Given the description of an element on the screen output the (x, y) to click on. 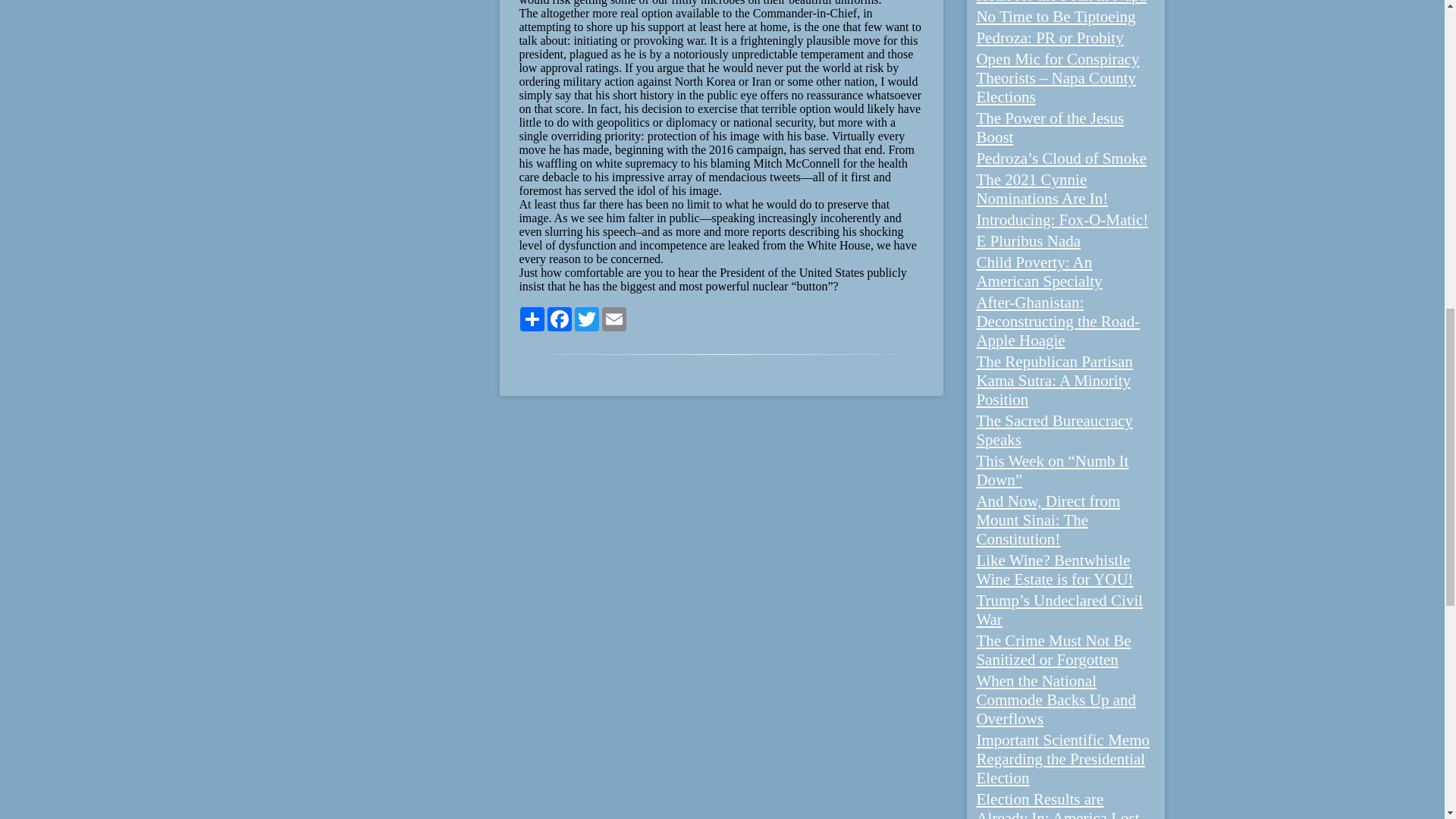
Introducing: Fox-O-Matic! (1061, 219)
And Now, Direct from Mount Sinai: The Constitution! (1047, 519)
E Pluribus Nada (1027, 240)
No Time to Be Tiptoeing (1055, 16)
Child Poverty: An American Specialty (1038, 271)
The Sacred Bureaucracy Speaks (1053, 429)
Pedroza: PR or Probity (1048, 37)
Facebook (559, 319)
Twitter (586, 319)
Email (613, 319)
